Given the description of an element on the screen output the (x, y) to click on. 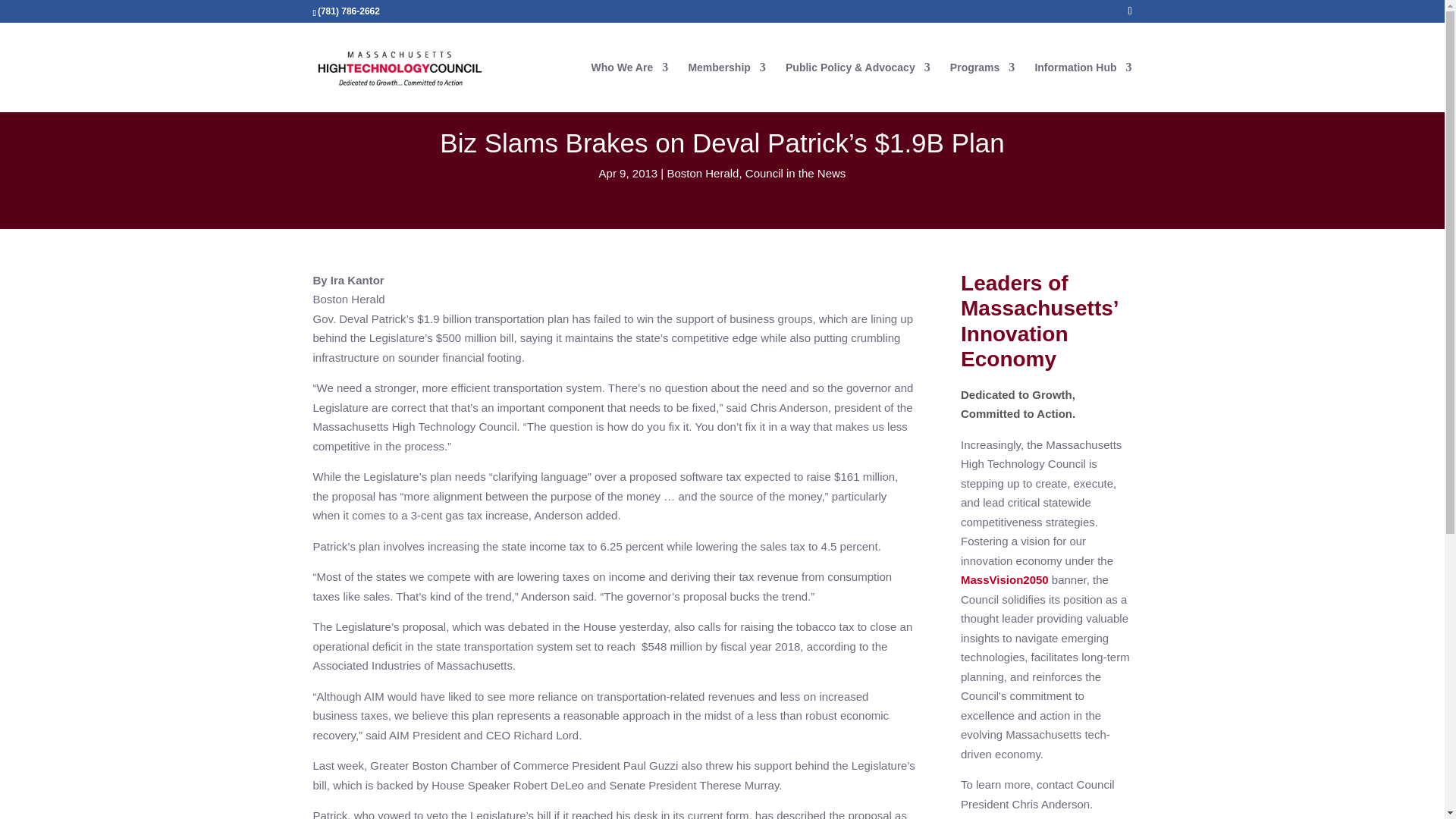
Boston Herald (702, 173)
Membership (726, 87)
Who We Are (629, 87)
Council in the News (795, 173)
Programs (982, 87)
MassVision2050 (1004, 579)
Information Hub (1082, 87)
